Given the description of an element on the screen output the (x, y) to click on. 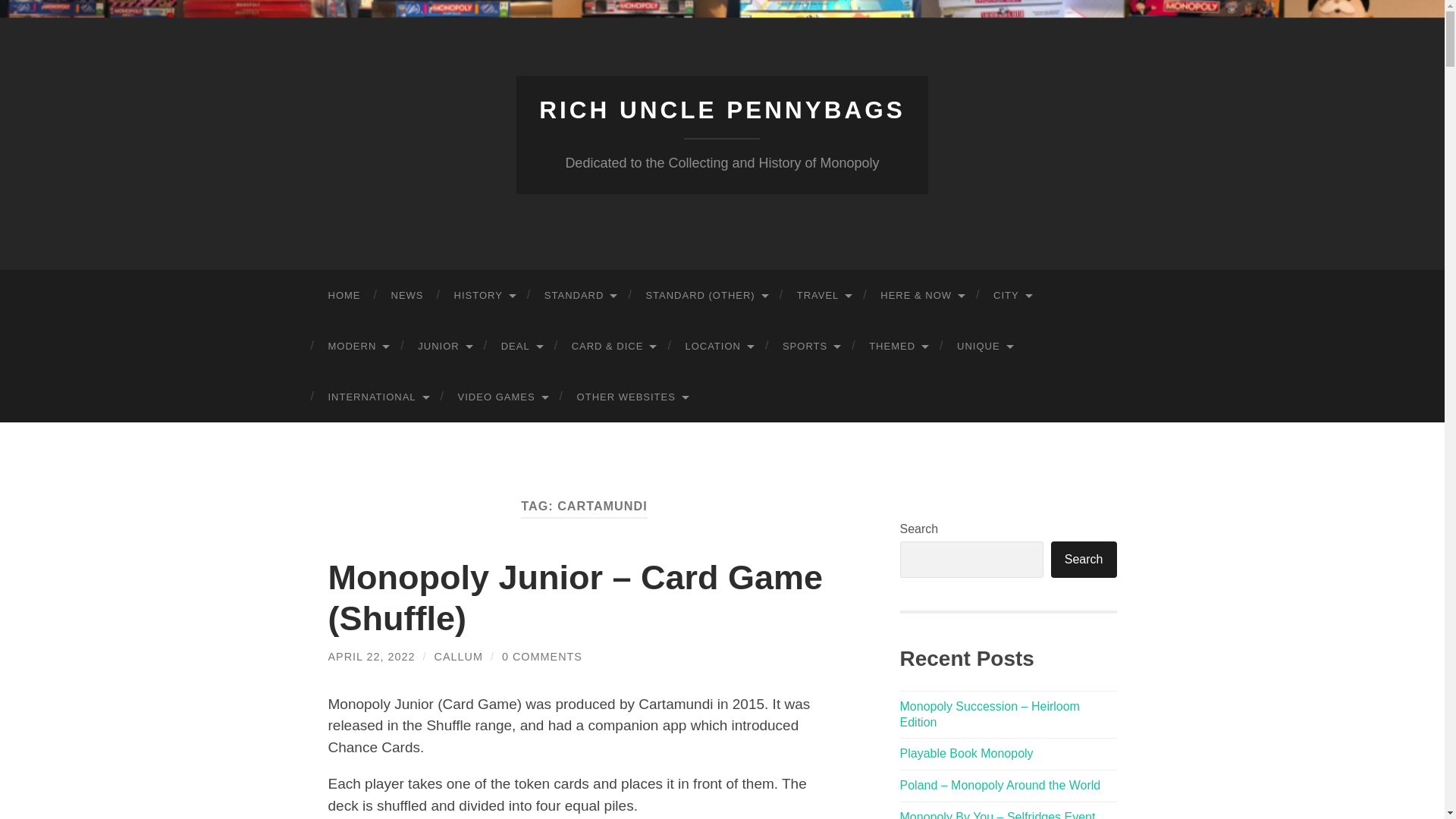
HISTORY (483, 295)
STANDARD (579, 295)
TRAVEL (823, 295)
NEWS (407, 295)
HOME (344, 295)
Posts by Callum (458, 656)
RICH UNCLE PENNYBAGS (721, 109)
